Given the description of an element on the screen output the (x, y) to click on. 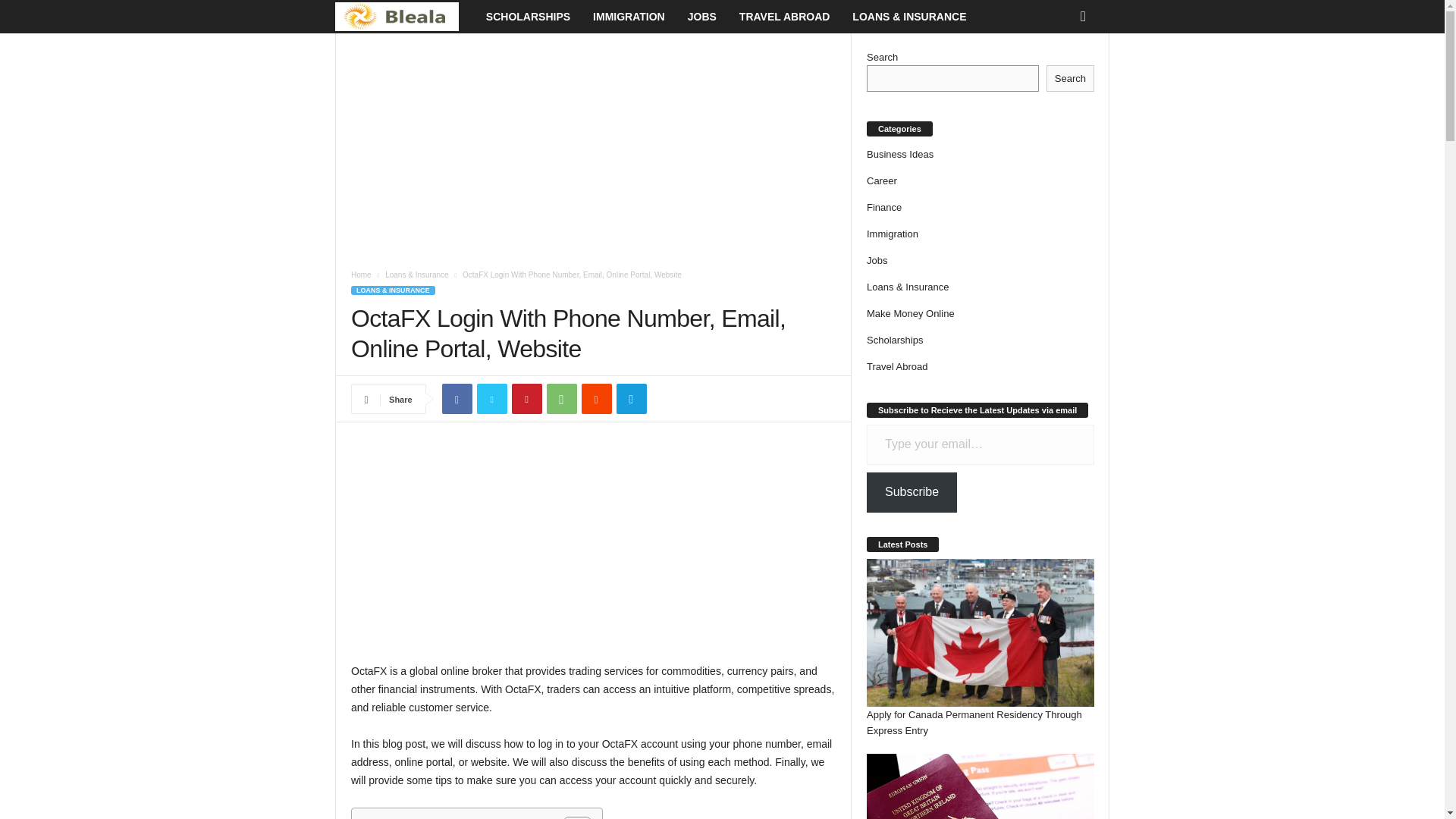
Twitter (491, 399)
Facebook (456, 399)
IMMIGRATION (628, 16)
JOBS (702, 16)
Home (360, 275)
Pinterest (526, 399)
SCHOLARSHIPS (527, 16)
Telegram (630, 399)
Advertisement (593, 145)
TRAVEL ABROAD (784, 16)
